Given the description of an element on the screen output the (x, y) to click on. 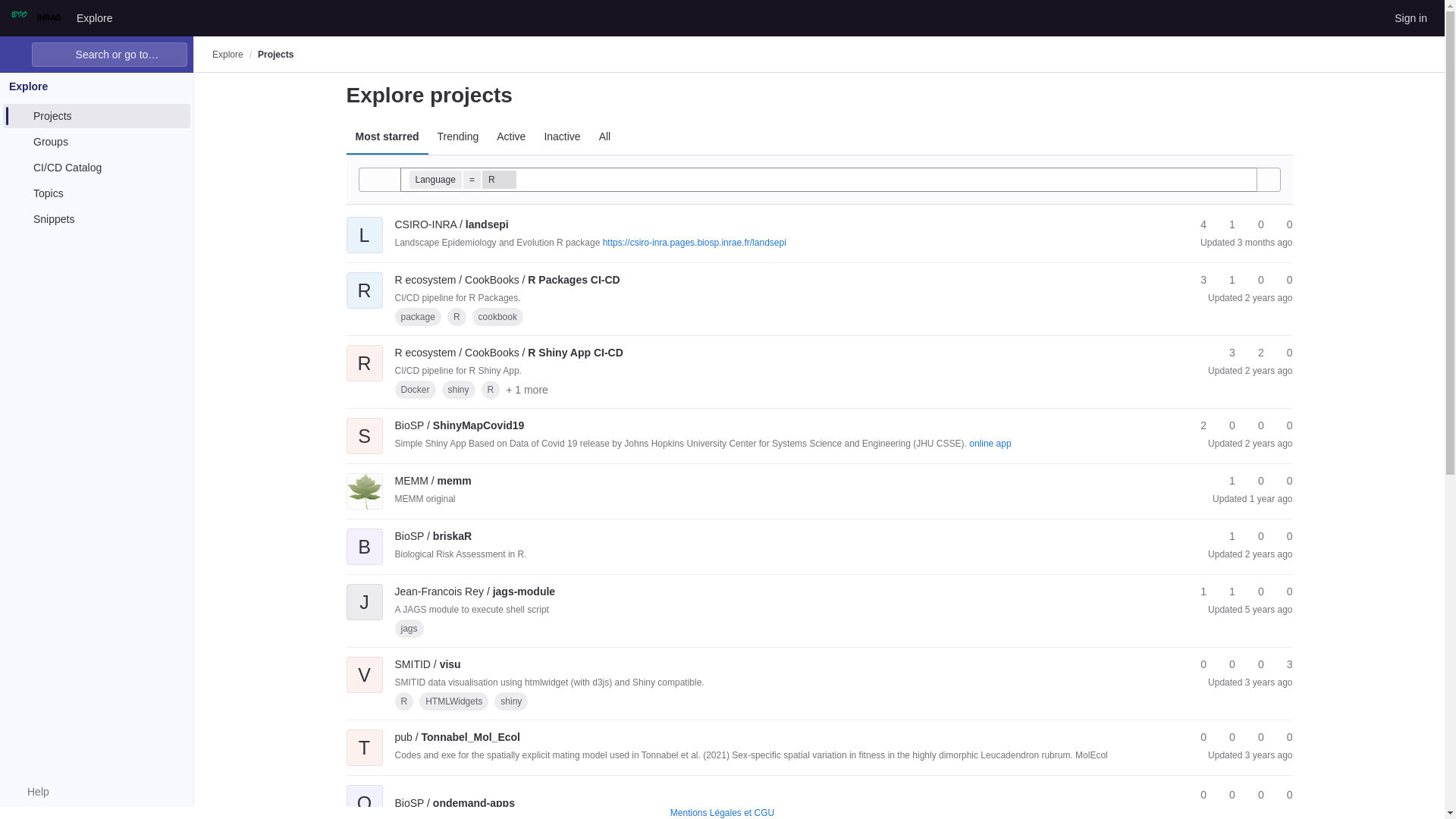
4 (1196, 224)
Forks (1224, 279)
Snippets (96, 218)
Merge requests (1253, 279)
Projects (275, 54)
Help (30, 791)
Most starred (387, 135)
Clear (1243, 179)
Active (510, 135)
landsepi (451, 224)
